Given the description of an element on the screen output the (x, y) to click on. 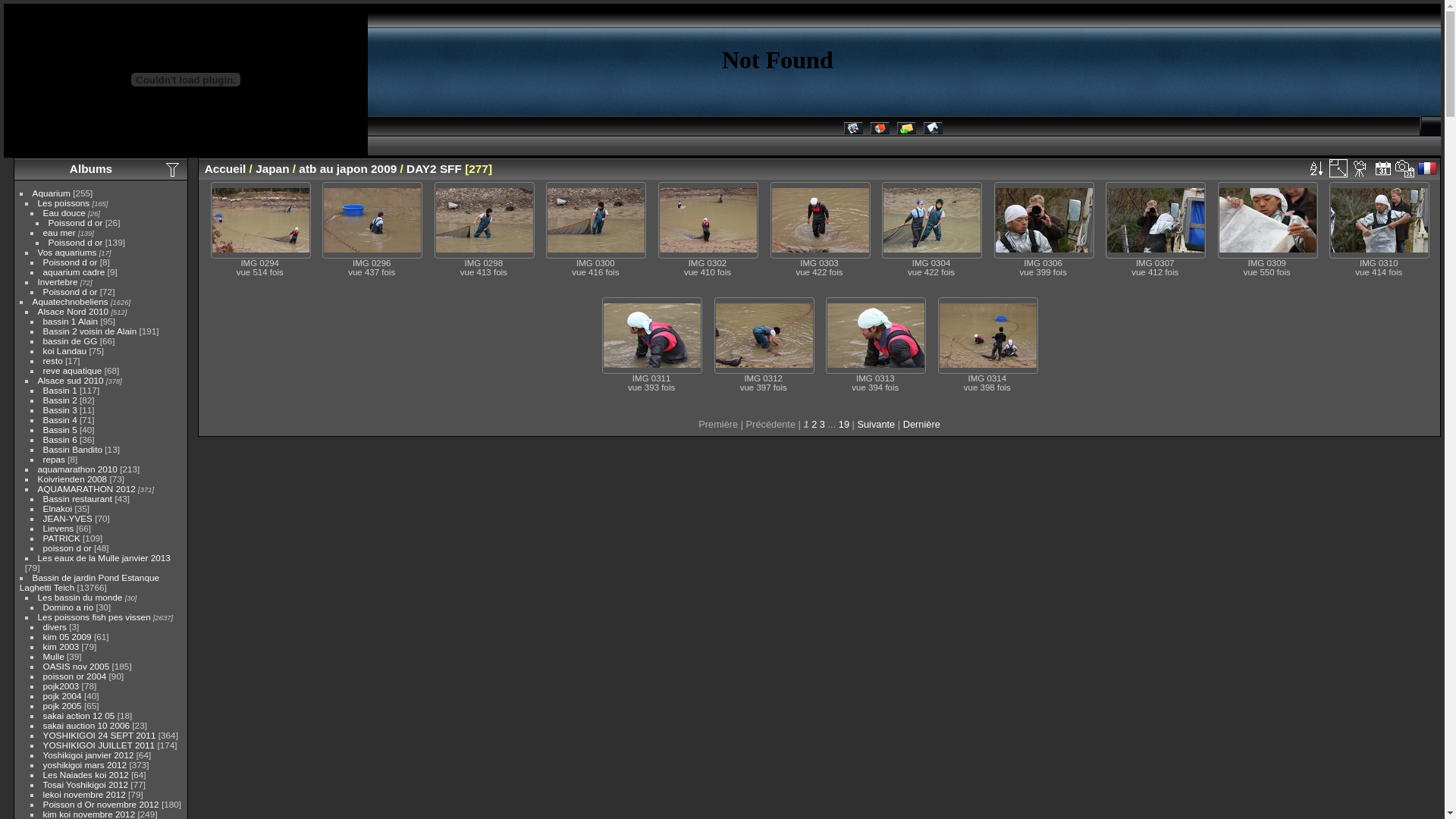
Lievens Element type: text (58, 528)
Plan du site Element type: hover (932, 130)
Aquatechnobeliens Element type: text (70, 301)
diaporama Element type: hover (1360, 168)
PATRICK Element type: text (61, 537)
sakai action 12 05 Element type: text (79, 715)
Bassin 4 Element type: text (60, 419)
IMG 0307 (412 visites) Element type: hover (1155, 220)
lekoi novembre 2012 Element type: text (84, 794)
IMG 0309 (550 visites) Element type: hover (1267, 220)
  Element type: text (1428, 168)
Les eaux de la Mulle janvier 2013 Element type: text (103, 557)
IMG 0313 (394 visites) Element type: hover (875, 335)
Koivrienden 2008 Element type: text (72, 478)
aquamarathon 2010 Element type: text (77, 468)
YOSHIKIGOI JUILLET 2011 Element type: text (99, 744)
Accueil Element type: text (225, 168)
aquarium cadre Element type: text (74, 271)
sakai auction 10 2006 Element type: text (86, 725)
atb au japon 2009 Element type: text (347, 168)
Les Naiades koi 2012 Element type: text (85, 774)
Eau douce Element type: text (64, 212)
IMG 0302 (410 visites) Element type: hover (707, 220)
pojk 2004 Element type: text (62, 695)
Mulle Element type: text (53, 656)
Poissond d or Element type: text (70, 291)
Les poissons Element type: text (63, 202)
Bassin 3 Element type: text (60, 409)
Bassin 6 Element type: text (60, 439)
yoshikigoi mars 2012 Element type: text (85, 764)
Bassin Bandito Element type: text (73, 449)
Alsace sud 2010 Element type: text (70, 380)
IMG 0303 (422 visites) Element type: hover (820, 220)
koi Landau Element type: text (65, 350)
IMG 0310 (414 visites) Element type: hover (1378, 220)
IMG 0294 (514 visites) Element type: hover (260, 220)
info@aquatechnobel.be Element type: hover (905, 130)
Tosai Yoshikigoi 2012 Element type: text (85, 784)
Ordre de tri Element type: hover (1315, 168)
Vos aquariums Element type: text (67, 252)
Les poissons fish pes vissen Element type: text (93, 616)
Japan Element type: text (271, 168)
Invertebre Element type: text (57, 281)
repas Element type: text (54, 459)
IMG 0298 (413 visites) Element type: hover (484, 220)
19 Element type: text (843, 423)
afficher un calendrier par date d'ajout Element type: hover (1383, 168)
IMG 0306 (399 visites) Element type: hover (1043, 220)
  Element type: text (1315, 168)
3 Element type: text (822, 423)
Les bassin du monde Element type: text (79, 597)
kim 2003 Element type: text (61, 646)
IMG 0296 (437 visites) Element type: hover (371, 220)
kim 05 2009 Element type: text (67, 636)
Albums Element type: text (90, 168)
Poissond d or Element type: text (75, 242)
  Element type: text (1405, 168)
resto Element type: text (52, 360)
eau mer Element type: text (59, 232)
IMG 0312 (397 visites) Element type: hover (763, 335)
bassin de GG Element type: text (70, 340)
Domino a rio Element type: text (68, 606)
Bassin de jardin Pond Estanque Laghetti Teich Element type: text (89, 582)
Suivante Element type: text (875, 423)
YOSHIKIGOI 24 SEPT 2011 Element type: text (99, 735)
  Element type: text (1360, 168)
IMG 0311 (393 visites) Element type: hover (651, 335)
Home Element type: hover (879, 130)
bassin 1 Alain Element type: text (70, 321)
Poissond d or Element type: text (75, 222)
poisson or 2004 Element type: text (74, 675)
AQUAMARATHON 2012 Element type: text (86, 488)
DAY2 SFF Element type: text (433, 168)
Bassin restaurant Element type: text (77, 498)
Elnakoi Element type: text (57, 508)
Bassin 1 Element type: text (60, 390)
Tailles de photo Element type: hover (1338, 168)
Poissond d or Element type: text (70, 261)
  Element type: text (1338, 168)
Alsace Nord 2010 Element type: text (73, 311)
divers Element type: text (54, 626)
IMG 0300 (416 visites) Element type: hover (595, 220)
pojk2003 Element type: text (61, 685)
IMG 0304 (422 visites) Element type: hover (931, 220)
OASIS nov 2005 Element type: text (76, 666)
  Element type: text (1383, 168)
Yoshikigoi janvier 2012 Element type: text (88, 754)
pojk 2005 Element type: text (62, 705)
Album Membres ATB Element type: hover (852, 130)
reve aquatique Element type: text (72, 370)
Langue Element type: hover (1428, 168)
IMG 0314 (398 visites) Element type: hover (987, 335)
Poisson d Or novembre 2012 Element type: text (101, 804)
Bassin 2 Element type: text (60, 399)
Aquarium Element type: text (51, 192)
2 Element type: text (813, 423)
Bassin 2 voisin de Alain Element type: text (90, 330)
Bassin 5 Element type: text (60, 429)
JEAN-YVES Element type: text (67, 518)
poisson d or Element type: text (67, 547)
